Given the description of an element on the screen output the (x, y) to click on. 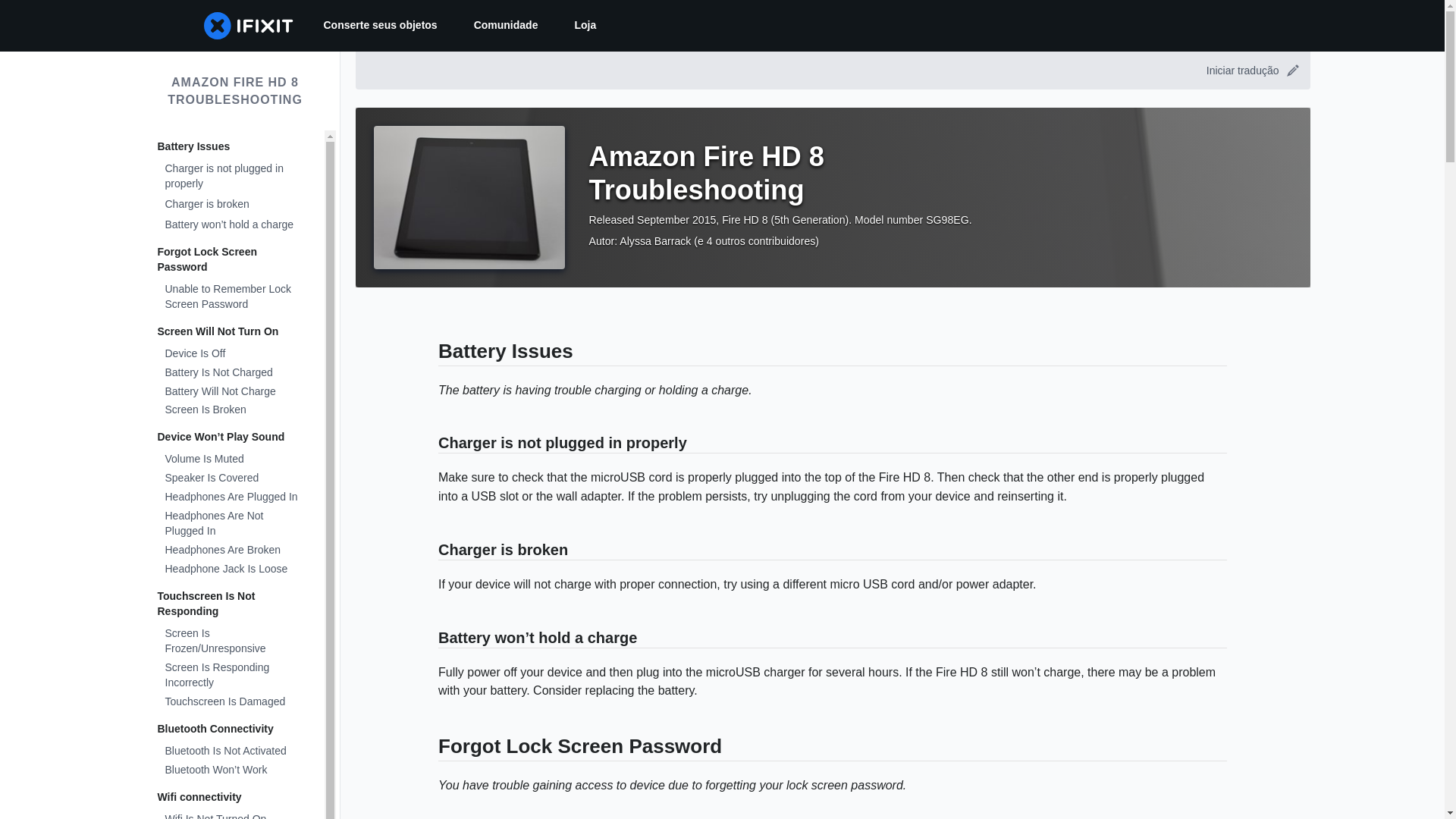
Charger is not plugged in properly (229, 176)
Screen Is Responding Incorrectly (229, 675)
Speaker Is Covered (229, 478)
Alyssa Barrack (655, 241)
Conserte seus objetos (379, 25)
Battery Is Not Charged (229, 373)
Unable to Remember Lock Screen Password (229, 297)
Headphones Are Plugged In (229, 497)
Battery Will Not Charge (229, 392)
Headphones Are Not Plugged In (229, 524)
Wifi connectivity (229, 797)
Loja (585, 25)
Volume Is Muted (229, 459)
Editar (1291, 70)
Battery Issues (229, 146)
